Given the description of an element on the screen output the (x, y) to click on. 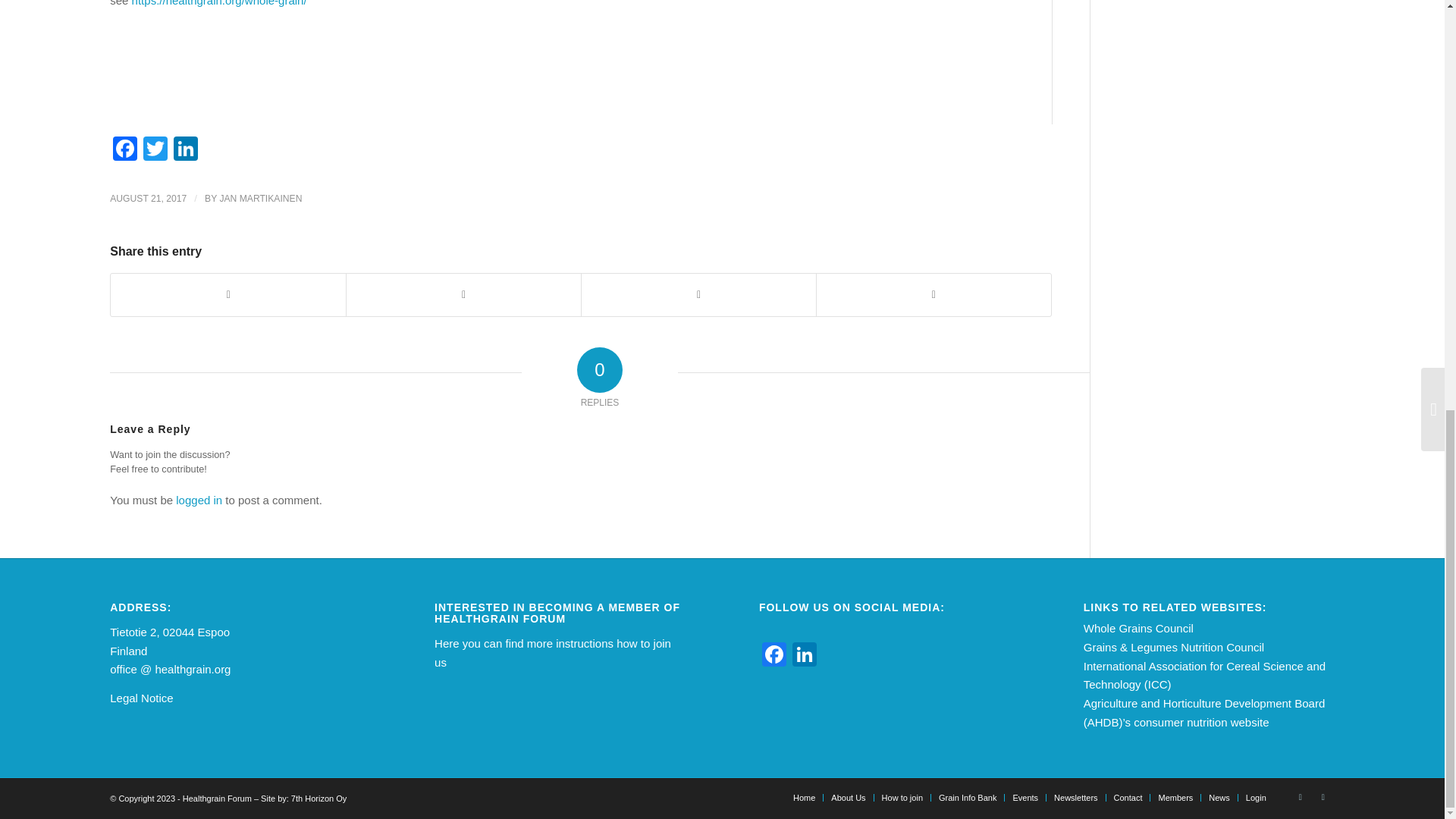
Twitter (154, 150)
off (116, 668)
Facebook (124, 150)
Facebook (124, 150)
LinkedIn (185, 150)
LinkedIn (185, 150)
LinkedIn Company (804, 656)
Posts by Jan Martikainen (260, 198)
Facebook (773, 656)
JAN MARTIKAINEN (260, 198)
logged in (199, 499)
Twitter (154, 150)
